Given the description of an element on the screen output the (x, y) to click on. 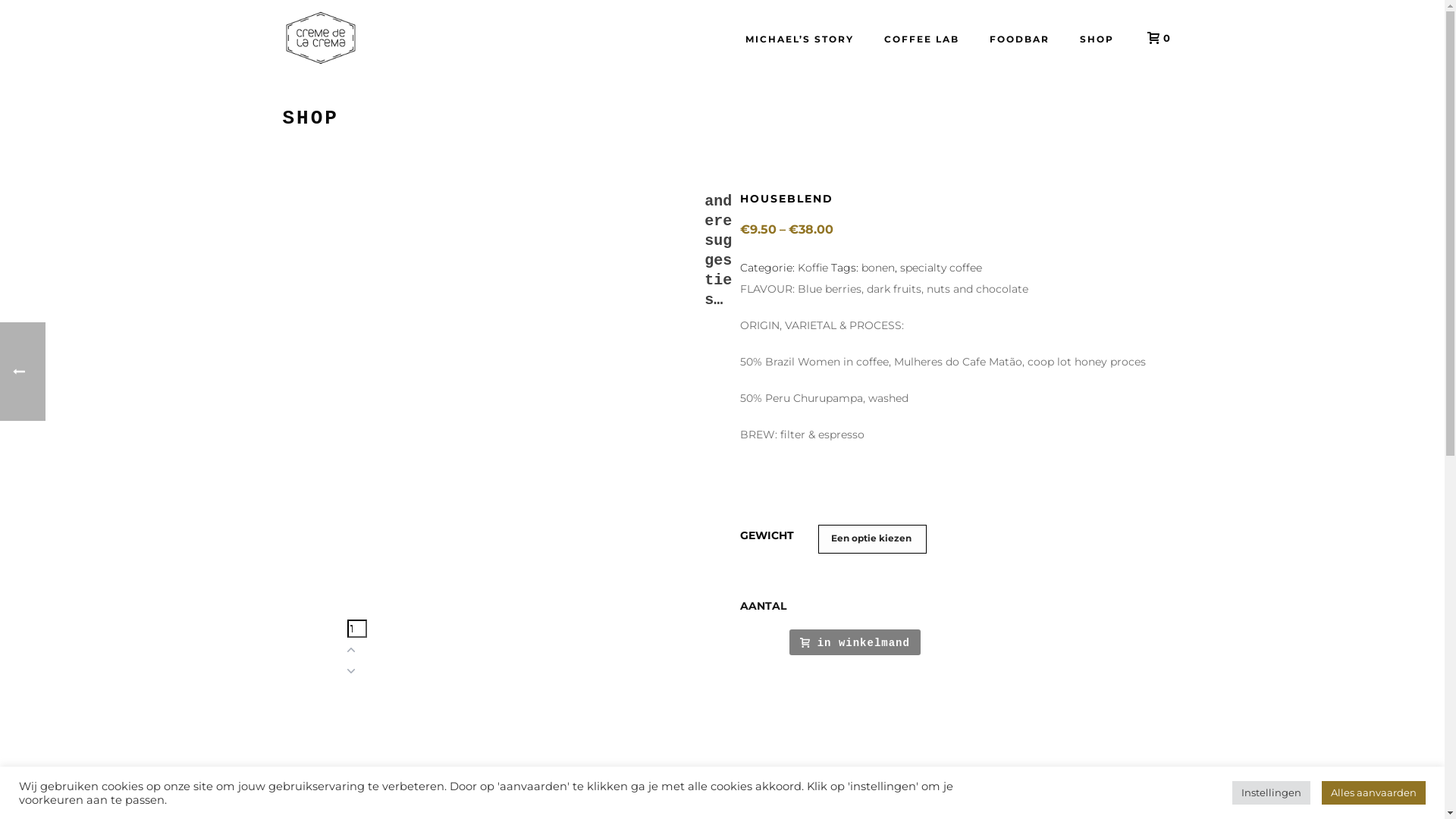
bonen Element type: text (877, 267)
Koffie Element type: text (812, 267)
COFFEE LAB Element type: text (921, 37)
Instellingen Element type: text (1271, 792)
Aantal Element type: hover (357, 628)
Alles aanvaarden Element type: text (1373, 792)
0 Element type: text (1153, 37)
FOODBAR Element type: text (1018, 37)
in winkelmand Element type: text (854, 641)
SHOP Element type: text (1096, 37)
specialty coffee Element type: text (941, 267)
